Given the description of an element on the screen output the (x, y) to click on. 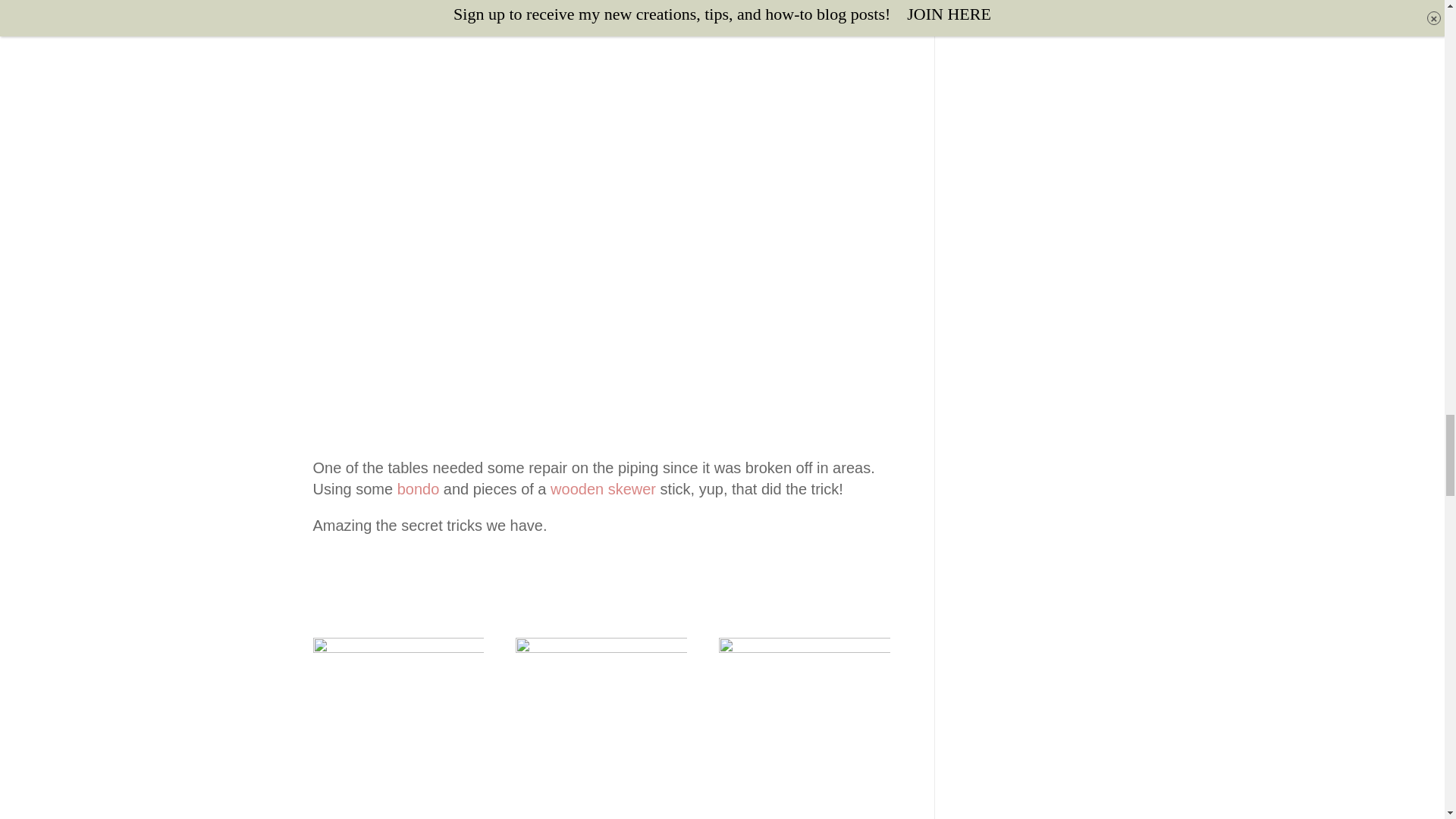
wooden skewer (603, 488)
8816C2ED-BAAC-41F1-9EA9-C780FDBA320C (804, 728)
2D35CB7A-E35D-4B6D-8FFF-BDAF9BCFF547 (601, 728)
bondo (418, 488)
CD317F4D-8E1A-46D3-A3DF-7C5DFA483999 (398, 728)
